Given the description of an element on the screen output the (x, y) to click on. 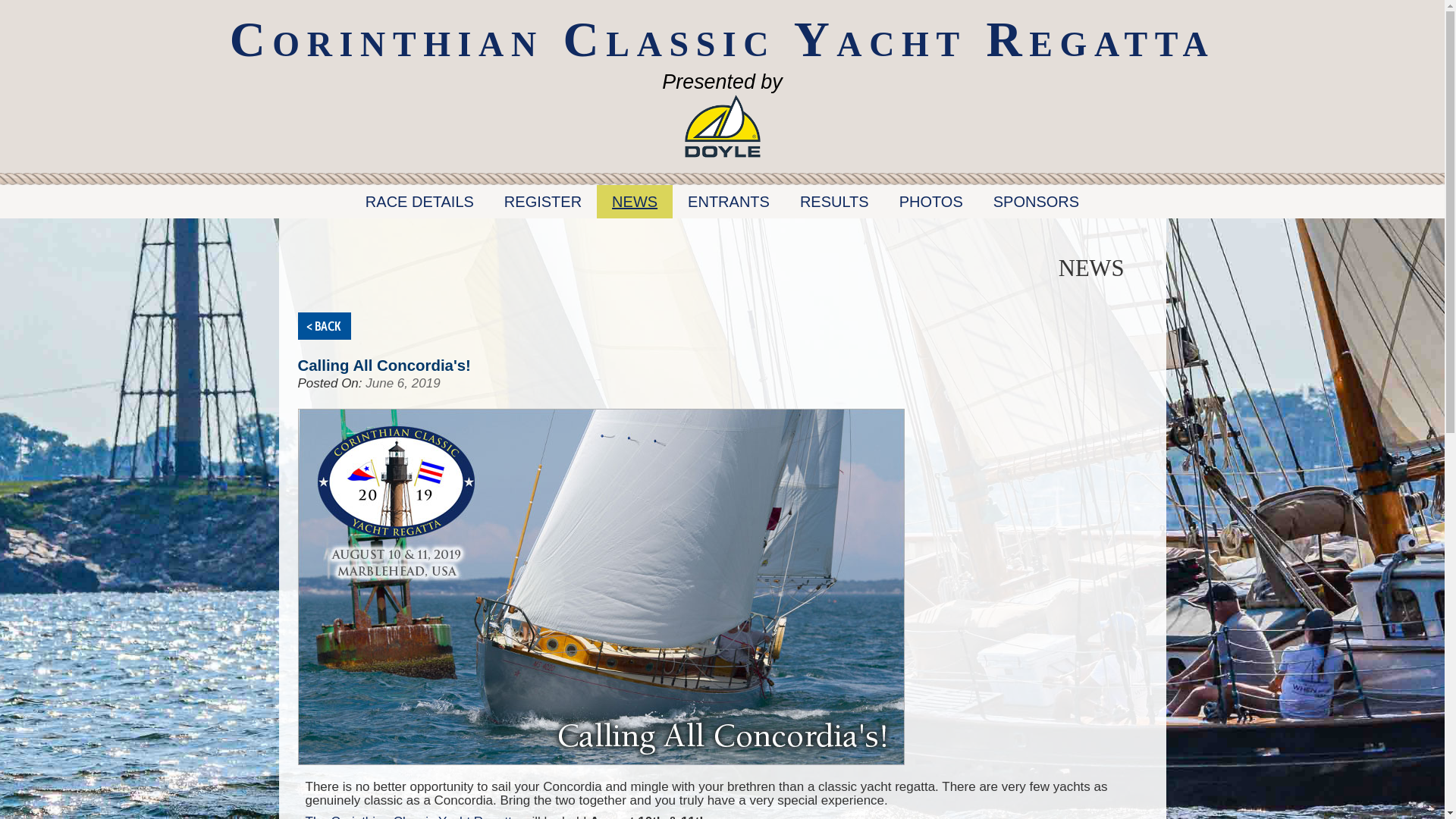
SPONSORS (1036, 201)
REGISTER (542, 201)
NEWS (634, 201)
PHOTOS (930, 201)
RACE DETAILS (419, 201)
ENTRANTS (728, 201)
RESULTS (833, 201)
The Corinthian Classic Yacht Regatta (411, 816)
